Given the description of an element on the screen output the (x, y) to click on. 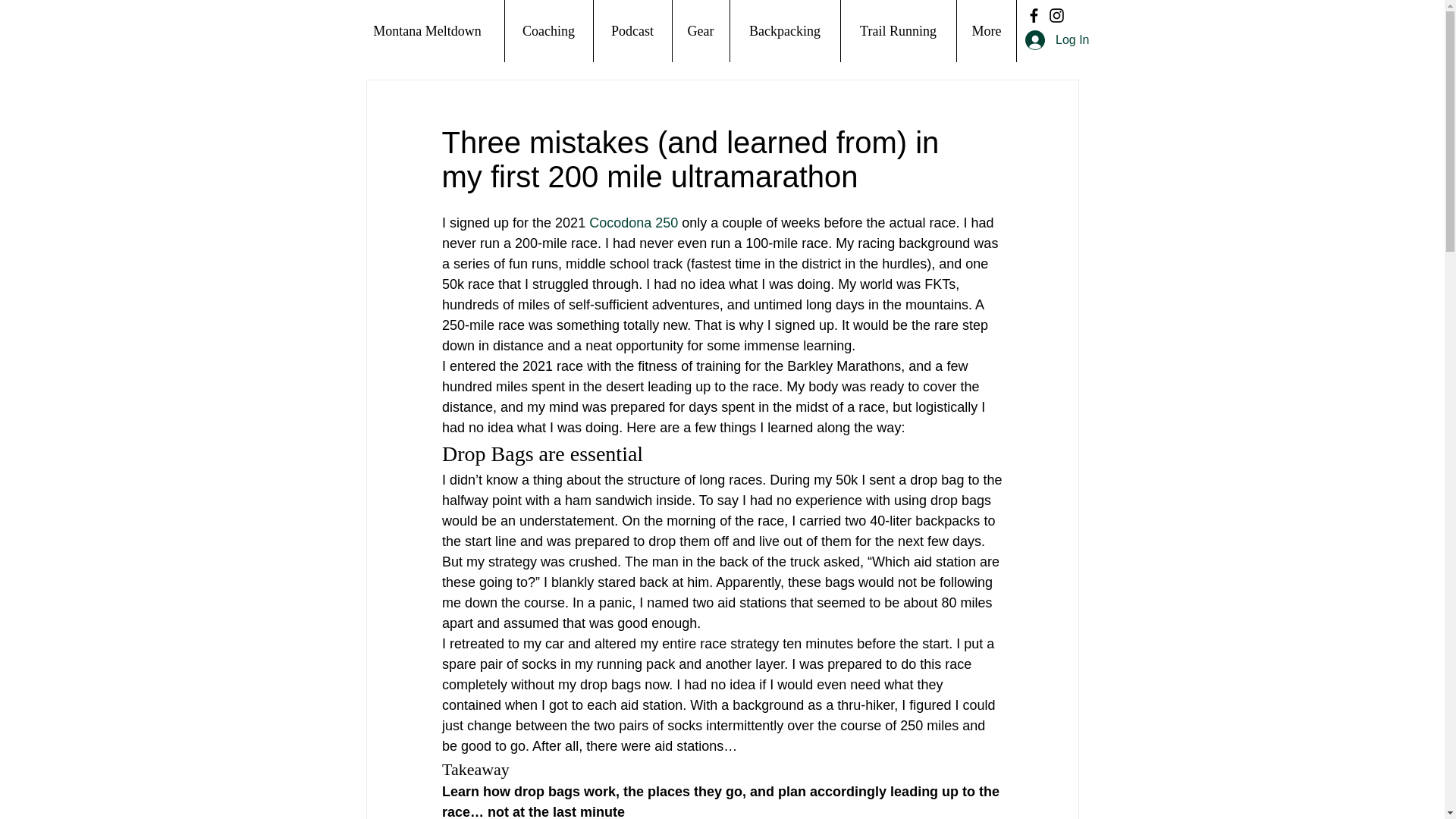
Coaching (547, 31)
Cocodona 250 (633, 222)
Montana Meltdown (426, 31)
Podcast (631, 31)
Trail Running (898, 31)
Gear (700, 31)
Backpacking (784, 31)
Log In (1056, 39)
